Given the description of an element on the screen output the (x, y) to click on. 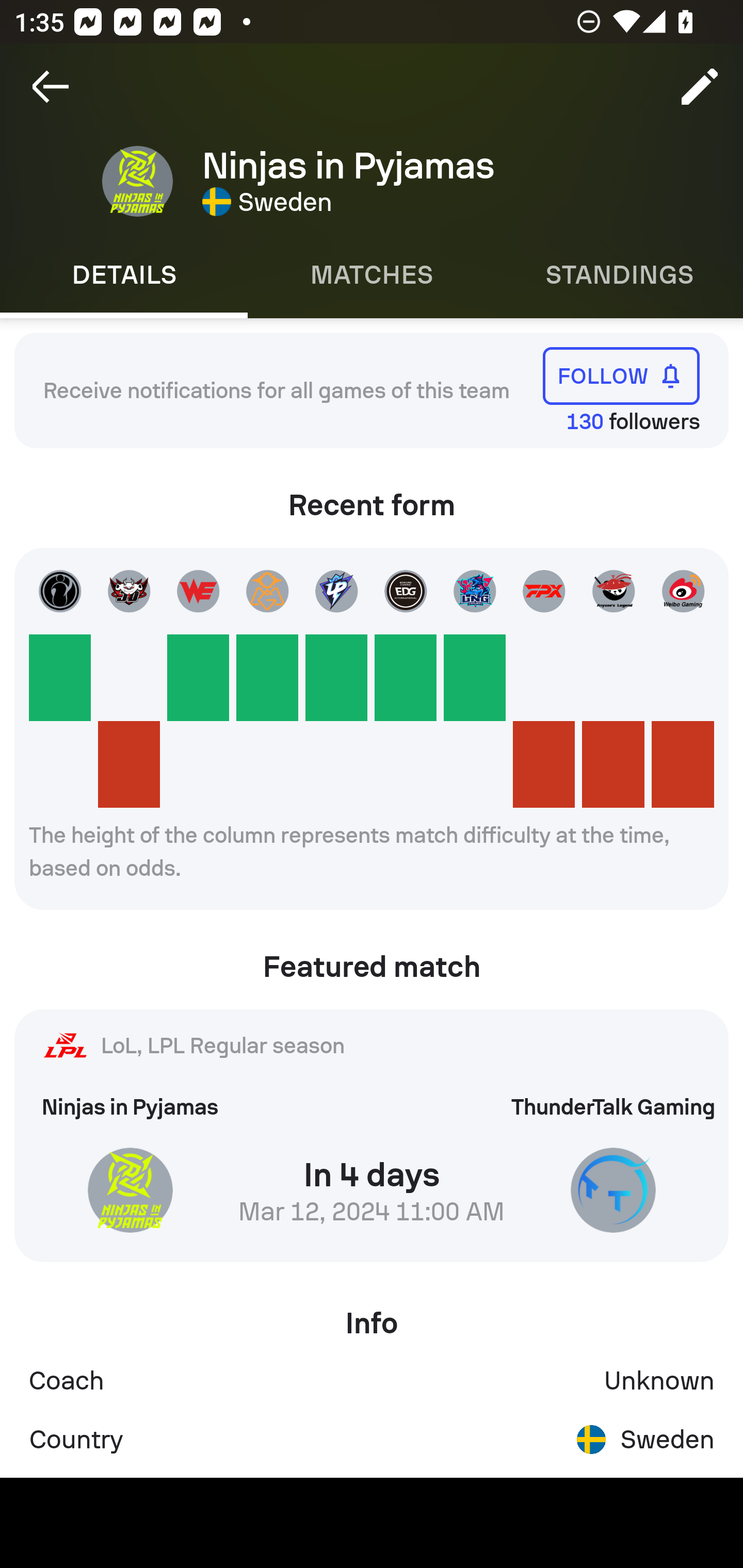
Navigate up (50, 86)
Edit (699, 86)
Matches MATCHES (371, 275)
Standings STANDINGS (619, 275)
FOLLOW (621, 375)
